Given the description of an element on the screen output the (x, y) to click on. 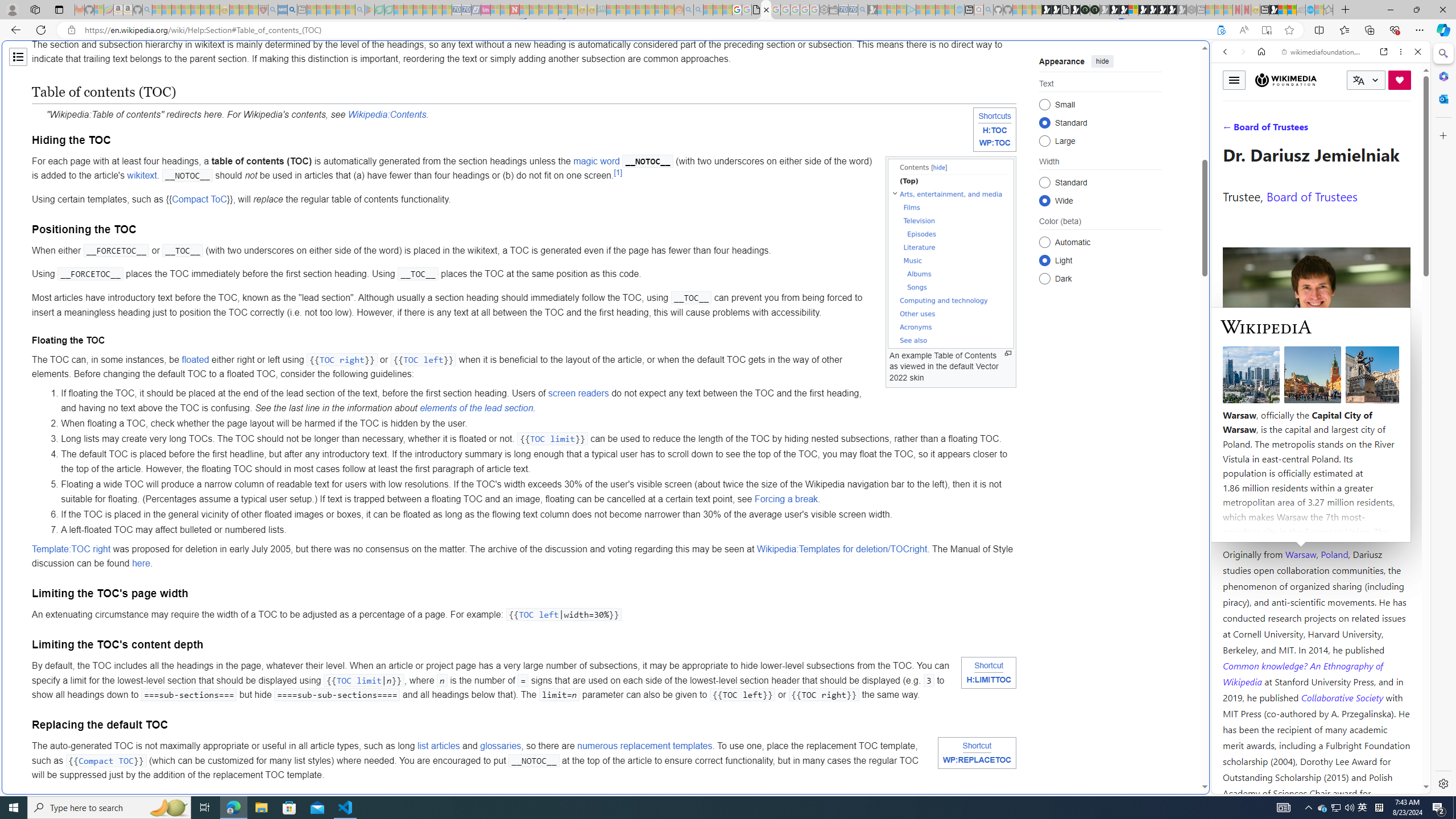
Support Wikipedia? (1220, 29)
Standard (1044, 182)
Earth has six continents not seven, radical new study claims (1291, 9)
Help:Section - Wikipedia (766, 9)
floated (195, 359)
Actions for this site (1370, 583)
Class: b_serphb (1404, 130)
Board of Trustees (1311, 195)
